Given the description of an element on the screen output the (x, y) to click on. 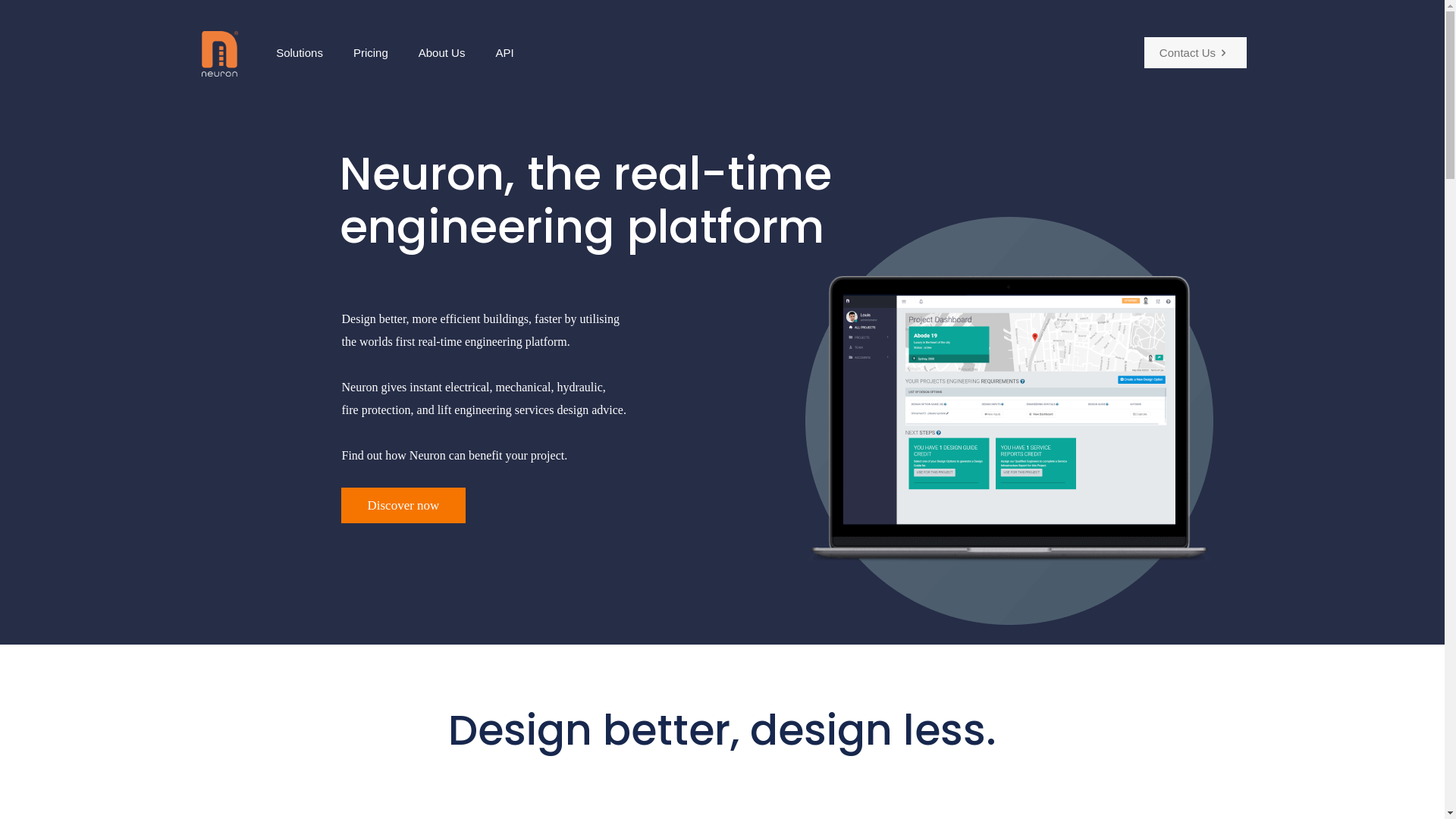
Solutions Element type: text (299, 53)
API Element type: text (504, 53)
Contact Us Element type: text (1195, 52)
Neuron Element type: hover (219, 53)
Pricing Element type: text (370, 53)
About Us Element type: text (441, 53)
